Given the description of an element on the screen output the (x, y) to click on. 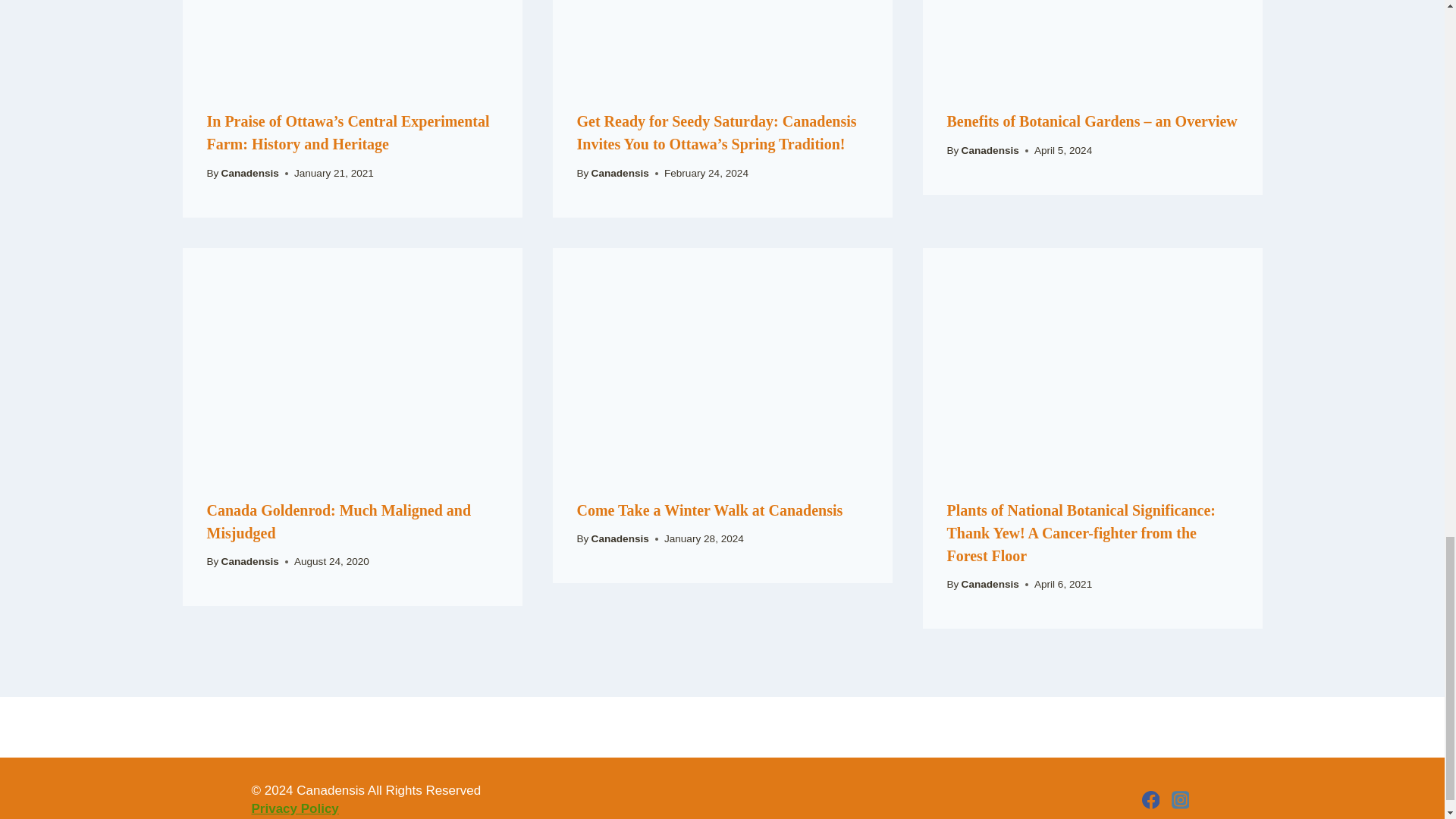
Canadensis (250, 173)
